Given the description of an element on the screen output the (x, y) to click on. 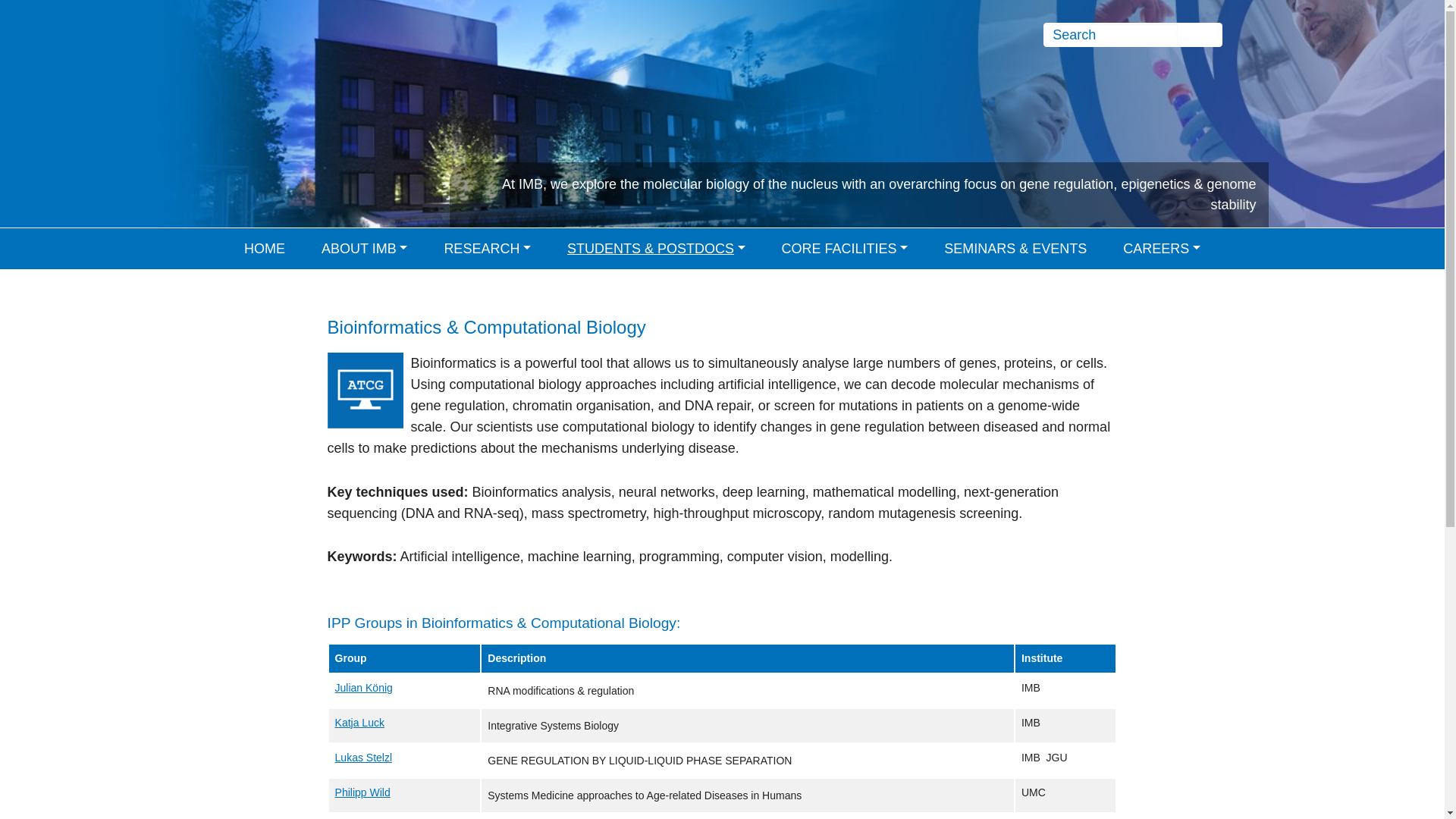
Lukas Stelzl (362, 757)
Logo (254, 63)
Katja Luck (359, 722)
Philipp Wild (362, 792)
Go to homepage (254, 63)
Logo (254, 63)
